Given the description of an element on the screen output the (x, y) to click on. 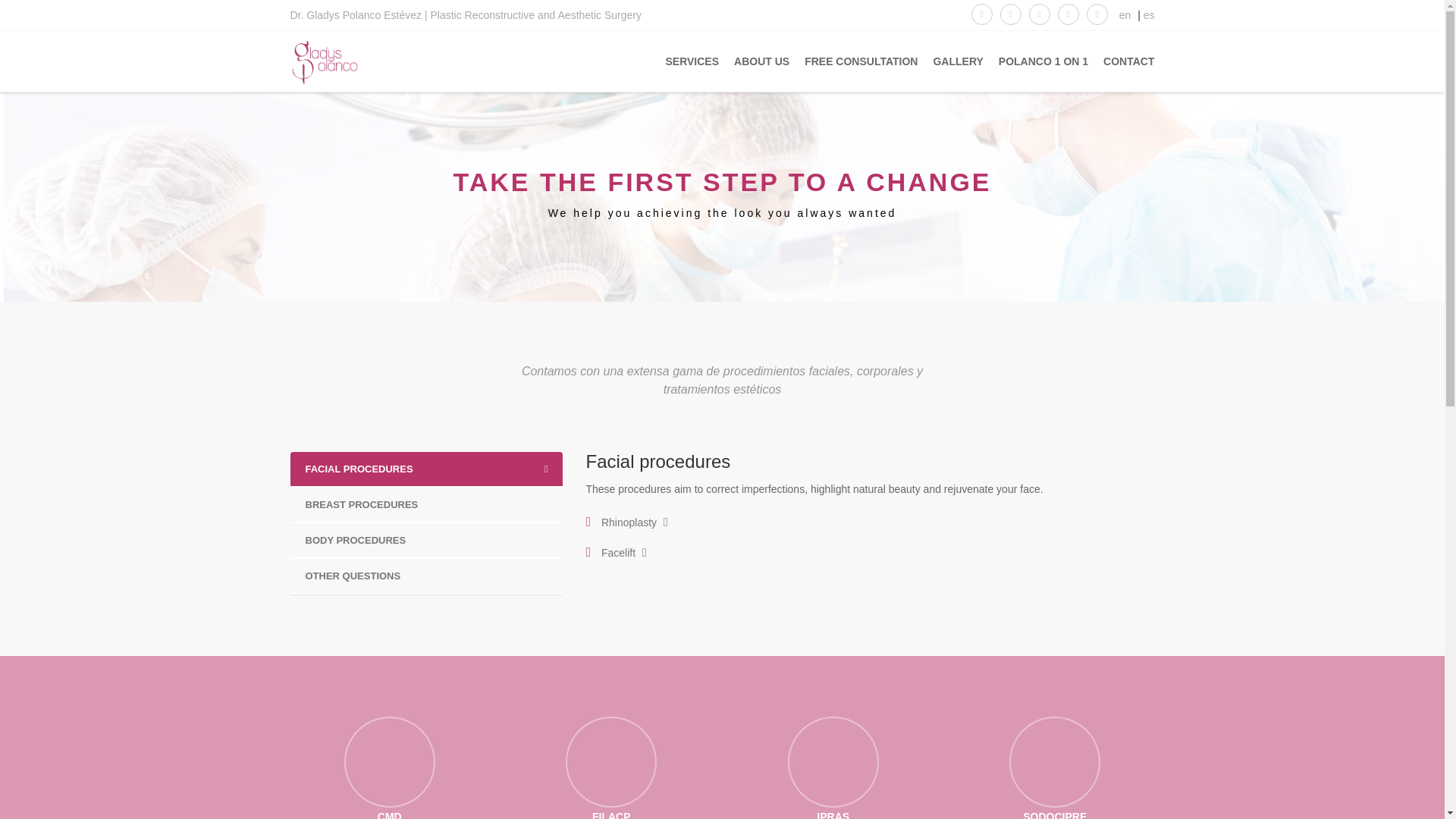
ABOUT US (754, 61)
FACIAL PROCEDURES (425, 469)
IPRAS (833, 767)
CONTACT (1120, 61)
FREE CONSULTATION (853, 61)
BREAST PROCEDURES (425, 504)
CMD (389, 767)
en (1125, 15)
OTHER QUESTIONS (425, 575)
GALLERY (949, 61)
